Given the description of an element on the screen output the (x, y) to click on. 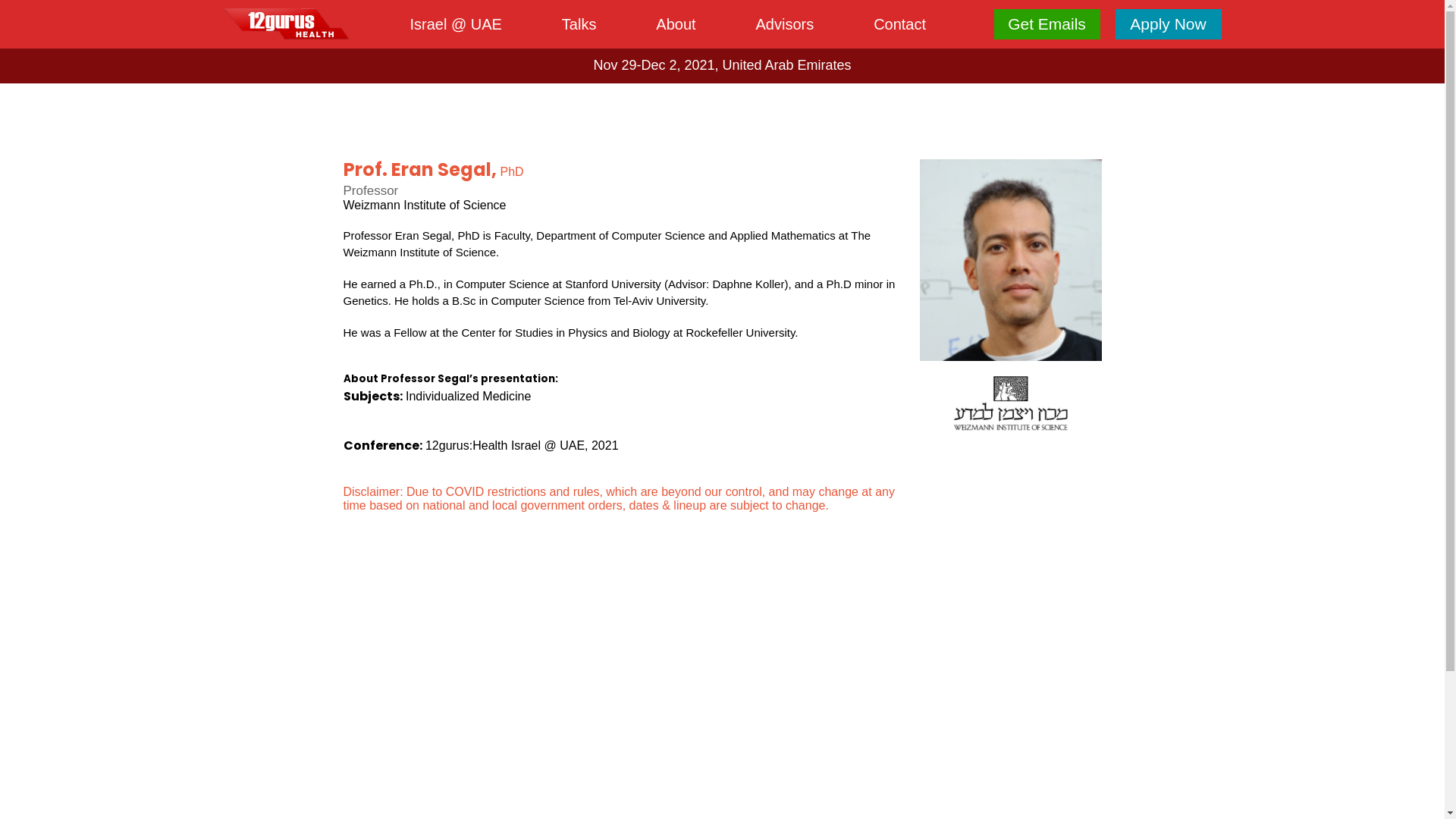
Contact Element type: text (899, 24)
Get Emails Element type: text (1046, 24)
Israel @ UAE Element type: text (455, 24)
Talks Element type: text (578, 24)
Apply Now Element type: text (1167, 24)
About Element type: text (675, 24)
Advisors Element type: text (785, 24)
